Given the description of an element on the screen output the (x, y) to click on. 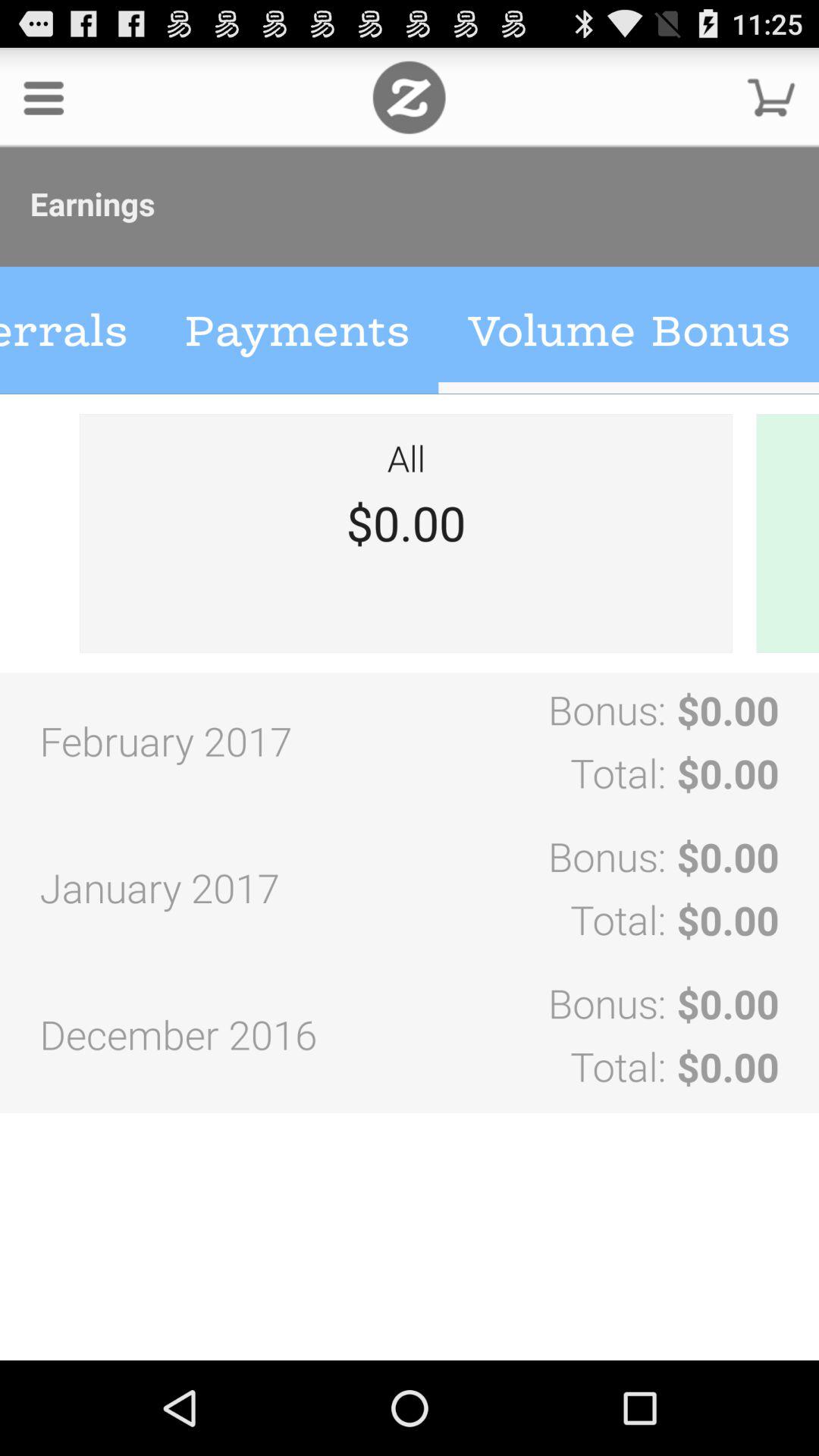
menu (43, 97)
